Given the description of an element on the screen output the (x, y) to click on. 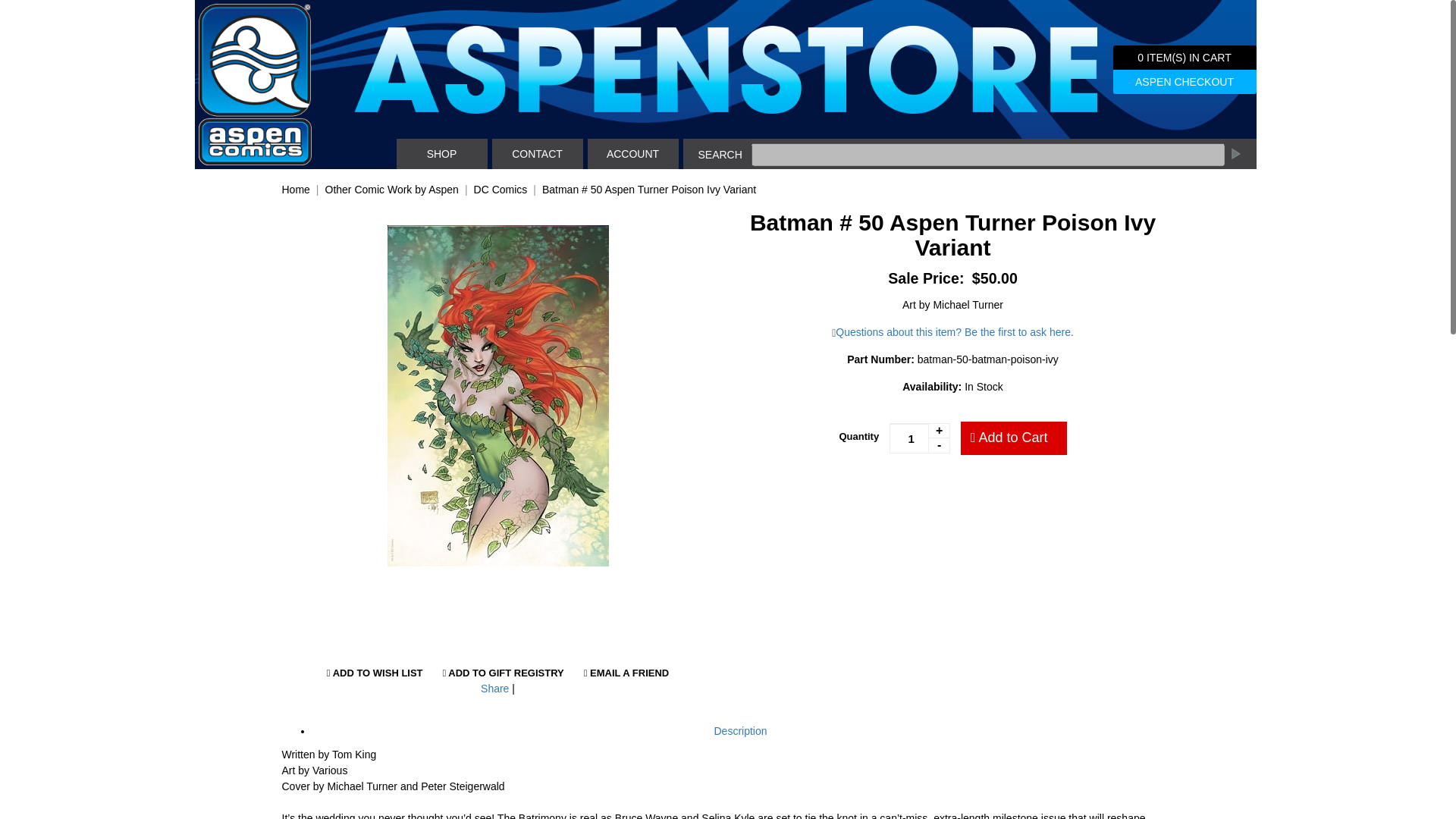
ASPEN CHECKOUT (1184, 81)
Home (296, 189)
1 (919, 438)
Other Comic Work by Aspen (391, 189)
DC Comics (500, 189)
